Given the description of an element on the screen output the (x, y) to click on. 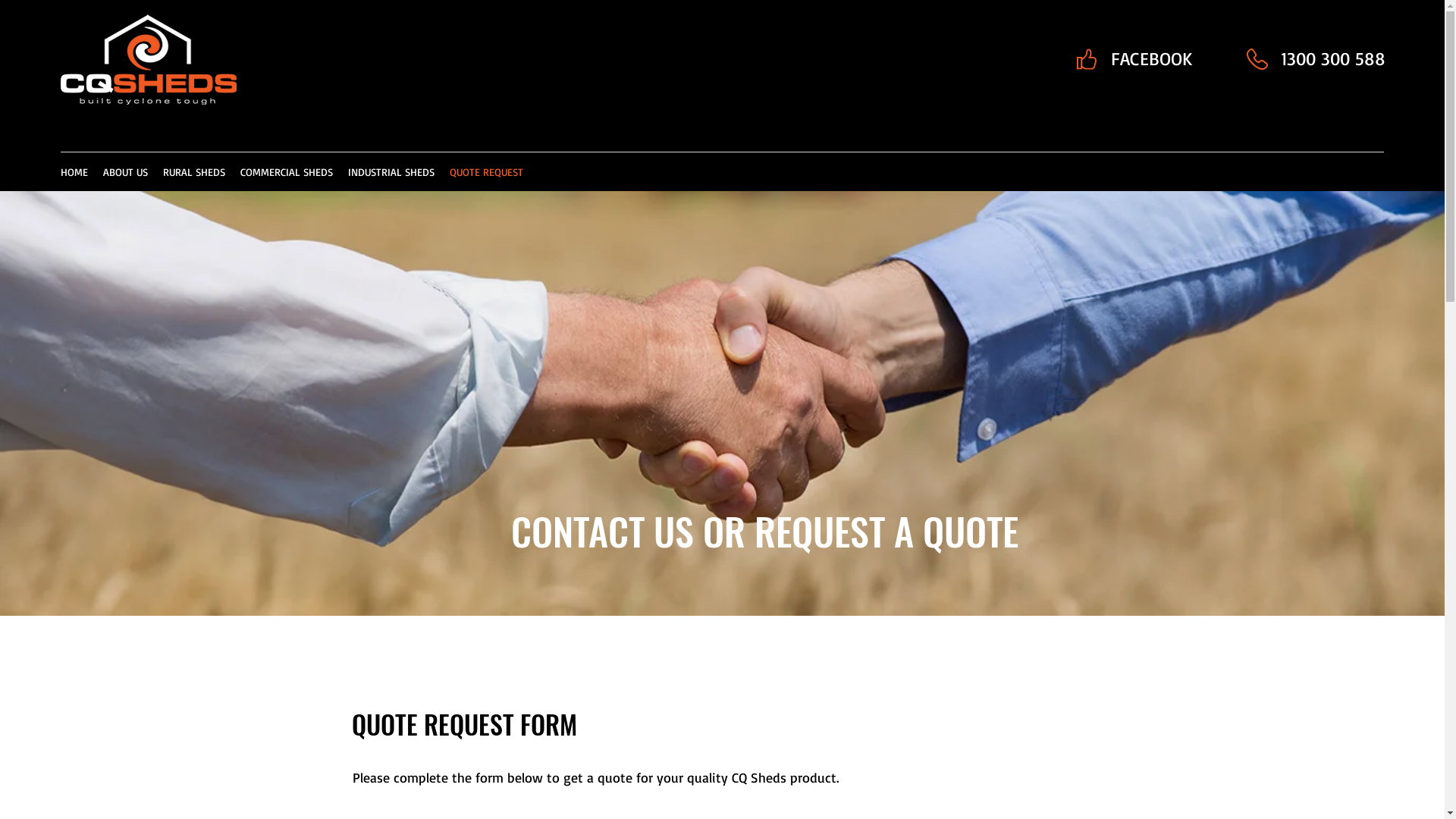
ABOUT US Element type: text (125, 171)
FACEBOOK Element type: text (1150, 58)
INDUSTRIAL SHEDS Element type: text (391, 171)
QUOTE REQUEST Element type: text (486, 171)
COMMERCIAL SHEDS Element type: text (286, 171)
HOME Element type: text (74, 171)
RURAL SHEDS Element type: text (193, 171)
